Given the description of an element on the screen output the (x, y) to click on. 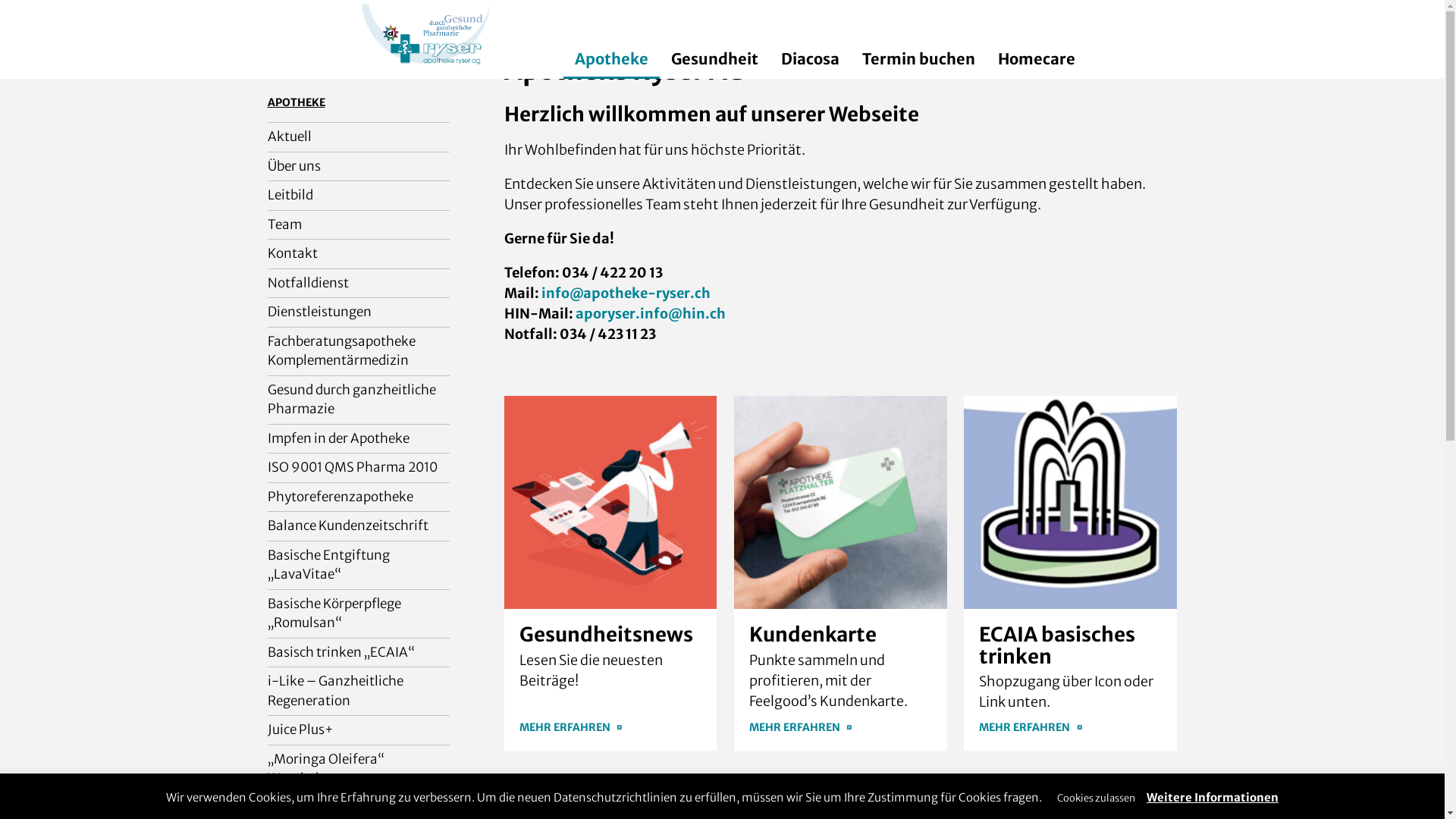
Juice Plus+ Element type: text (357, 729)
ISO 9001 QMS Pharma 2010 Element type: text (357, 467)
Gesundheit Element type: text (714, 58)
Dienstleistungen Element type: text (357, 312)
Phytoreferenzapotheke Element type: text (357, 496)
Impfen in der Apotheke Element type: text (357, 438)
Diacosa Element type: text (809, 58)
Termin buchen Element type: text (918, 58)
APOTHEKE Element type: text (295, 102)
Gesund durch ganzheitliche Pharmazie Element type: text (357, 399)
Homecare Element type: text (1035, 58)
Apotheke Element type: text (610, 59)
Notfalldienst Element type: text (357, 282)
Cookies zulassen Element type: text (1096, 797)
Weitere Informationen Element type: text (1212, 797)
Kontakt Element type: text (357, 253)
Aktuell Element type: text (357, 136)
Team Element type: text (357, 224)
Leitbild Element type: text (357, 195)
Balance Kundenzeitschrift Element type: text (357, 525)
aporyser.info@hin.ch Element type: text (649, 313)
info@apotheke-ryser.ch Element type: text (625, 292)
